Given the description of an element on the screen output the (x, y) to click on. 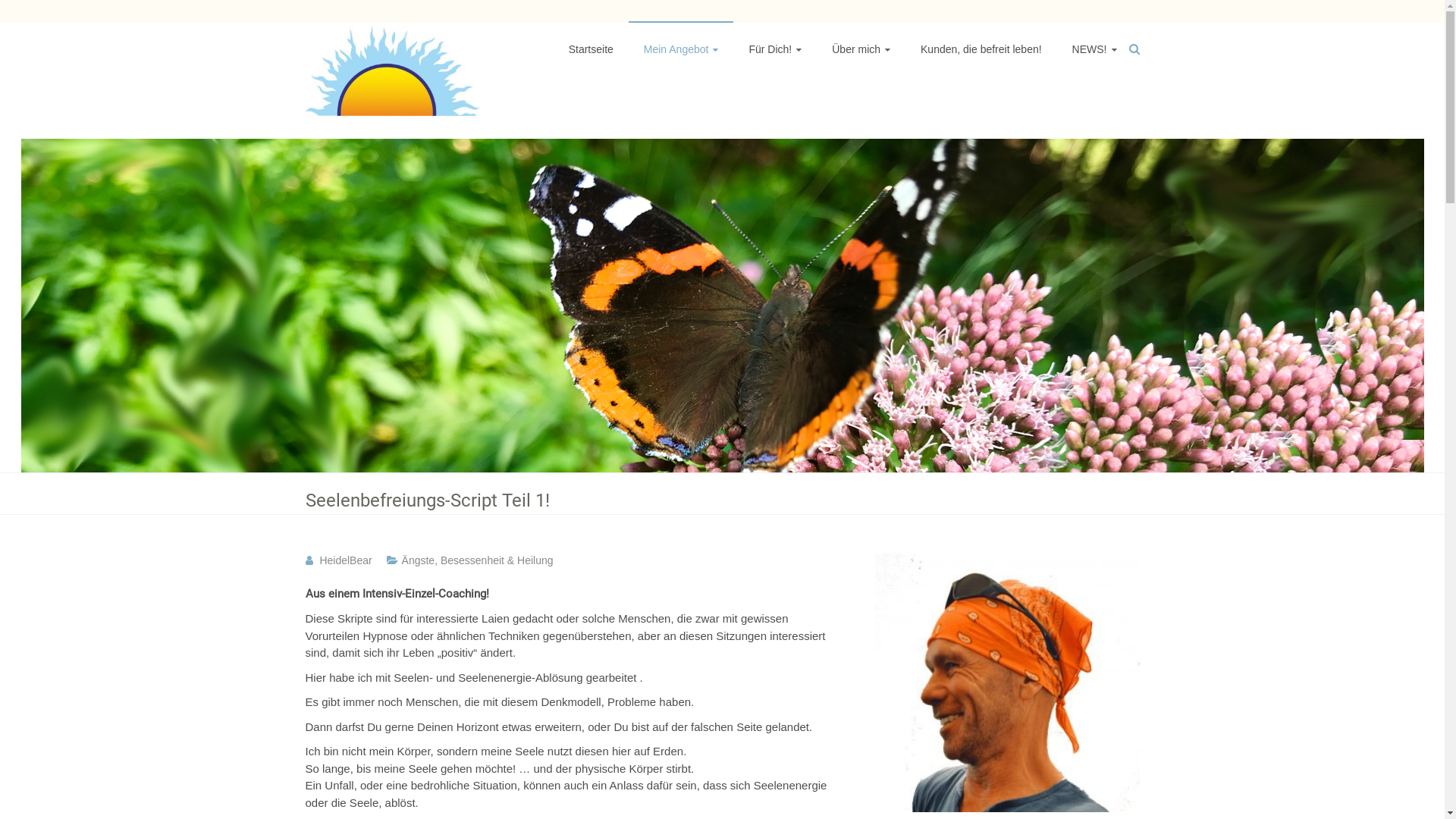
Kunden, die befreit leben! Element type: text (980, 48)
NEWS! Element type: text (1094, 48)
Befreit leben! Element type: text (379, 156)
HeidelBear Element type: text (345, 560)
Startseite Element type: text (590, 48)
Besessenheit & Heilung Element type: text (496, 560)
Mein Angebot Element type: text (680, 48)
